Given the description of an element on the screen output the (x, y) to click on. 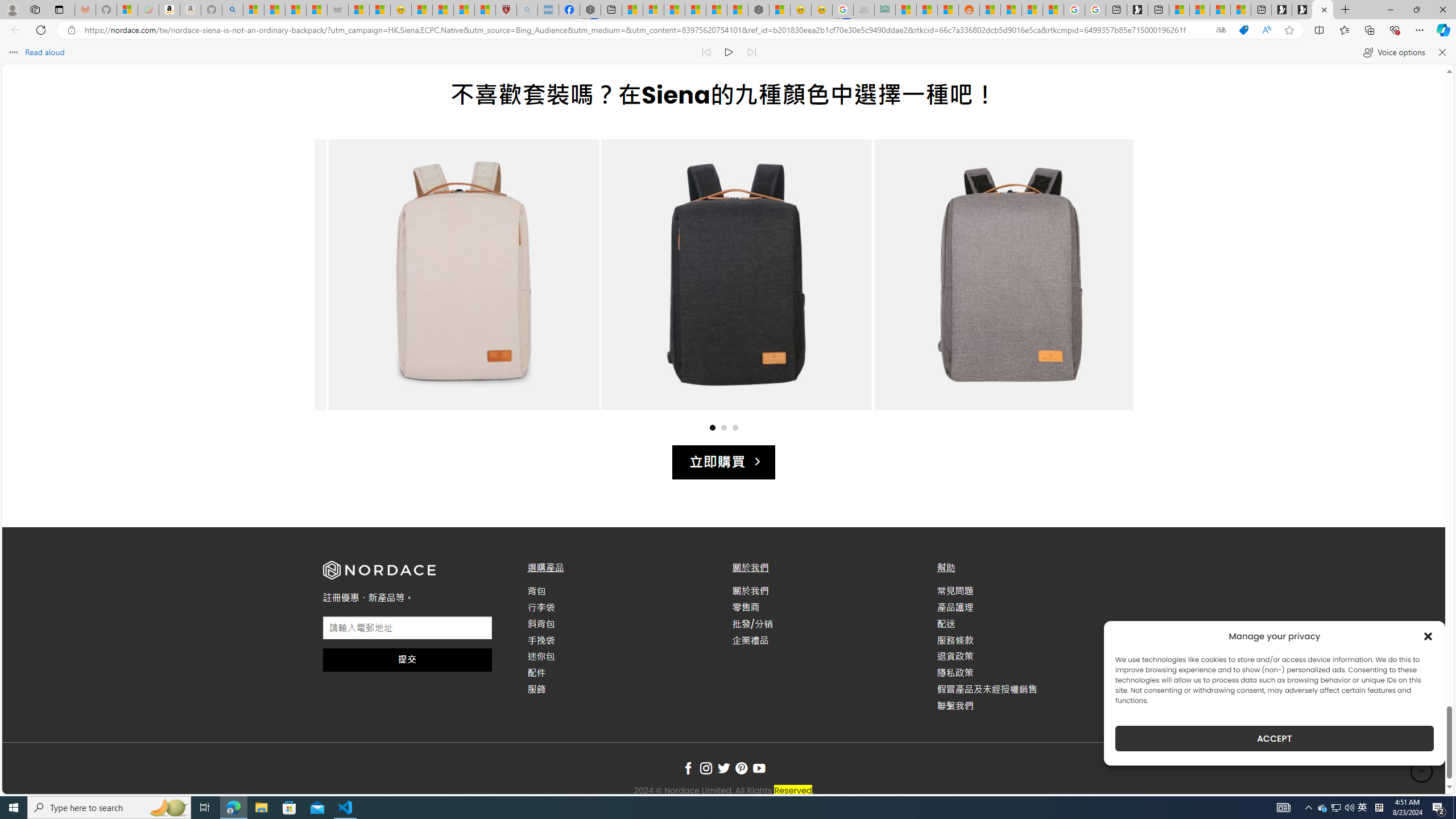
Microsoft Start Gaming (1137, 9)
Follow on Instagram (705, 768)
